Given the description of an element on the screen output the (x, y) to click on. 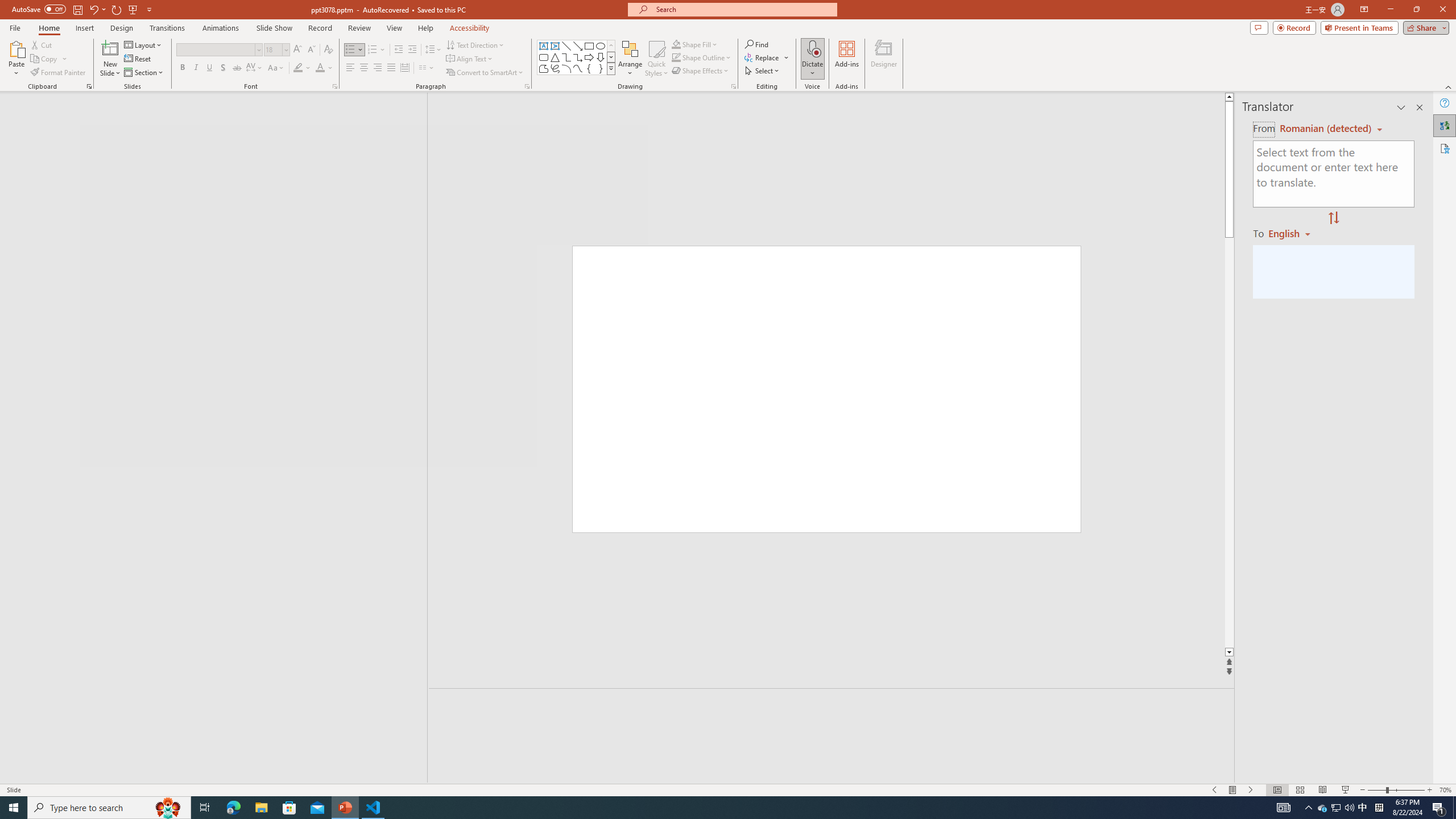
Shape Outline Green, Accent 1 (675, 56)
